Given the description of an element on the screen output the (x, y) to click on. 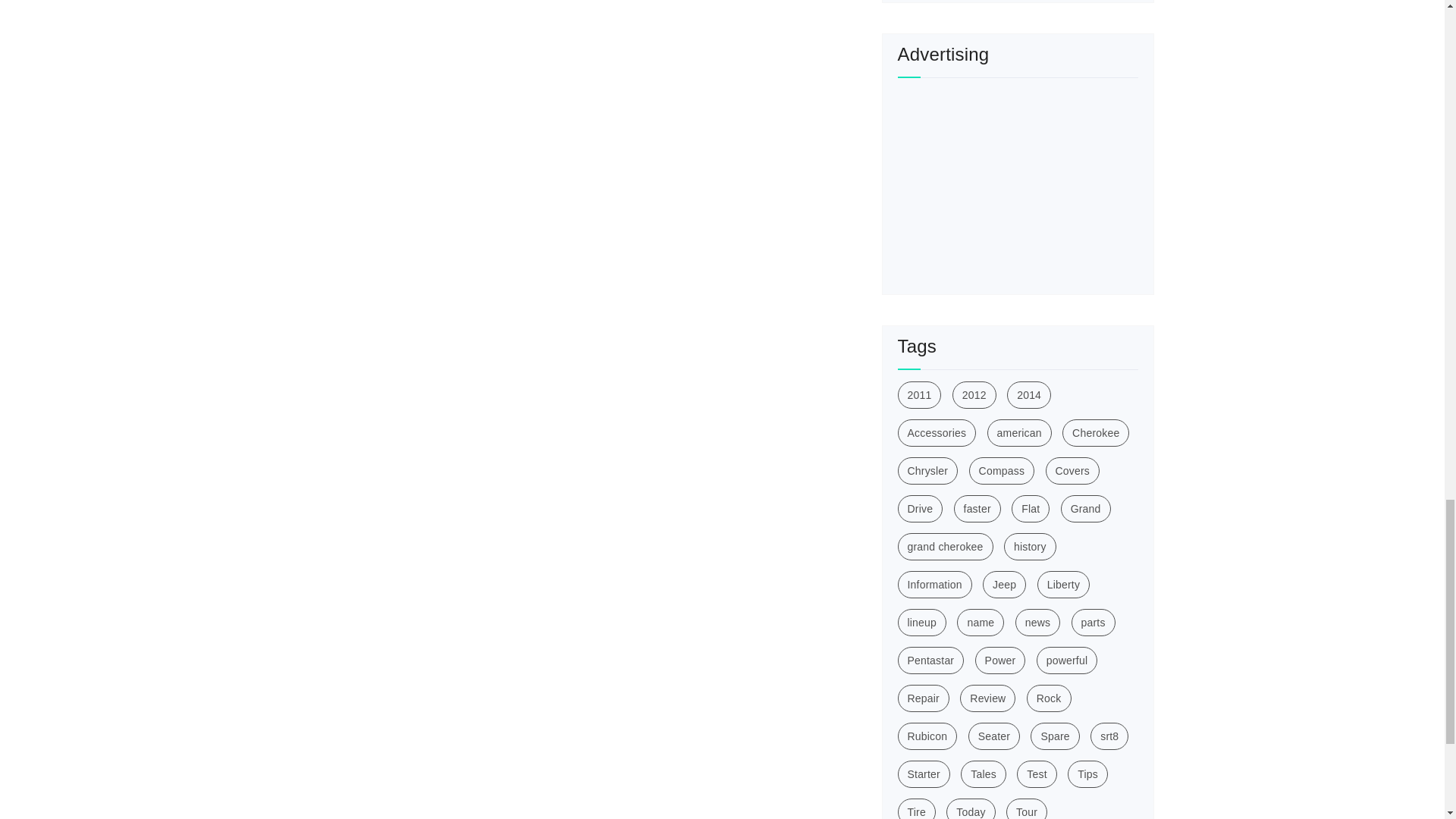
Advertisement (1012, 184)
2012 (973, 394)
Accessories (937, 432)
american (1019, 432)
2014 (1029, 394)
2011 (920, 394)
